Given the description of an element on the screen output the (x, y) to click on. 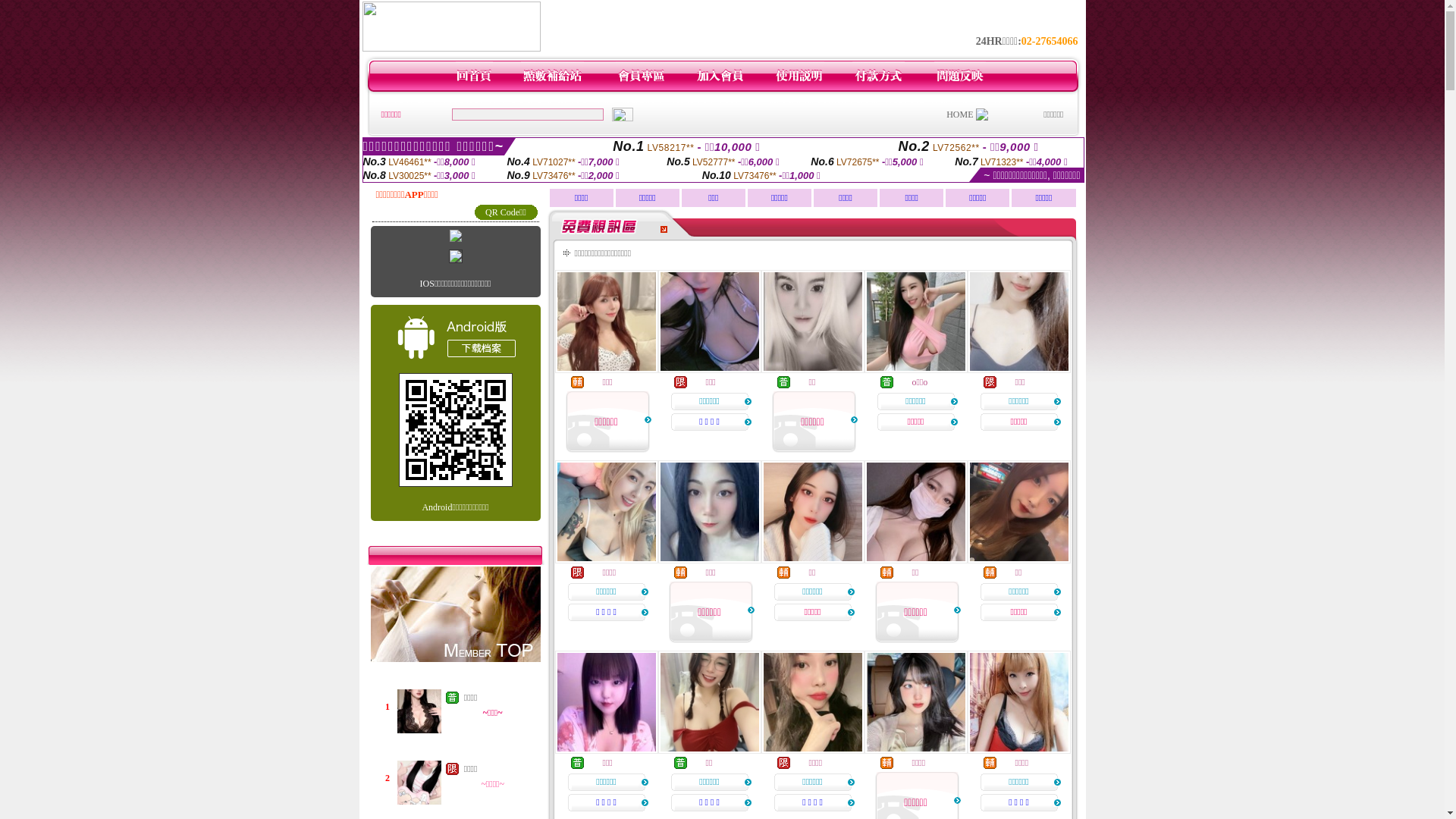
HOME Element type: text (959, 114)
